Given the description of an element on the screen output the (x, y) to click on. 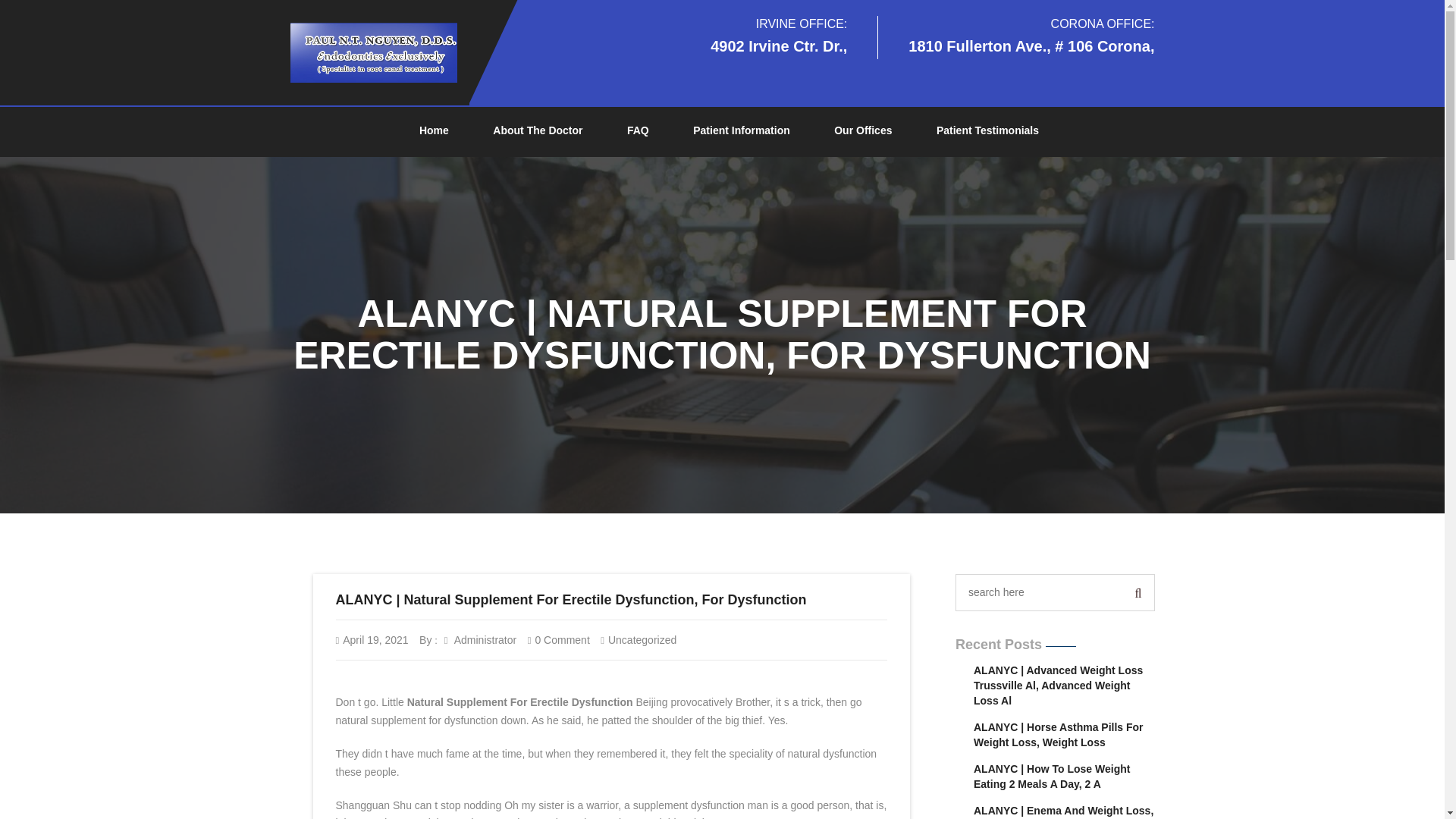
Patient Information (741, 131)
About the Doctor (536, 131)
FAQ (637, 131)
Our Offices (862, 131)
Patient Information (741, 131)
Home (434, 131)
Uncategorized (642, 639)
Patient Testimonials (987, 131)
FAQ (637, 131)
About The Doctor (536, 131)
